Given the description of an element on the screen output the (x, y) to click on. 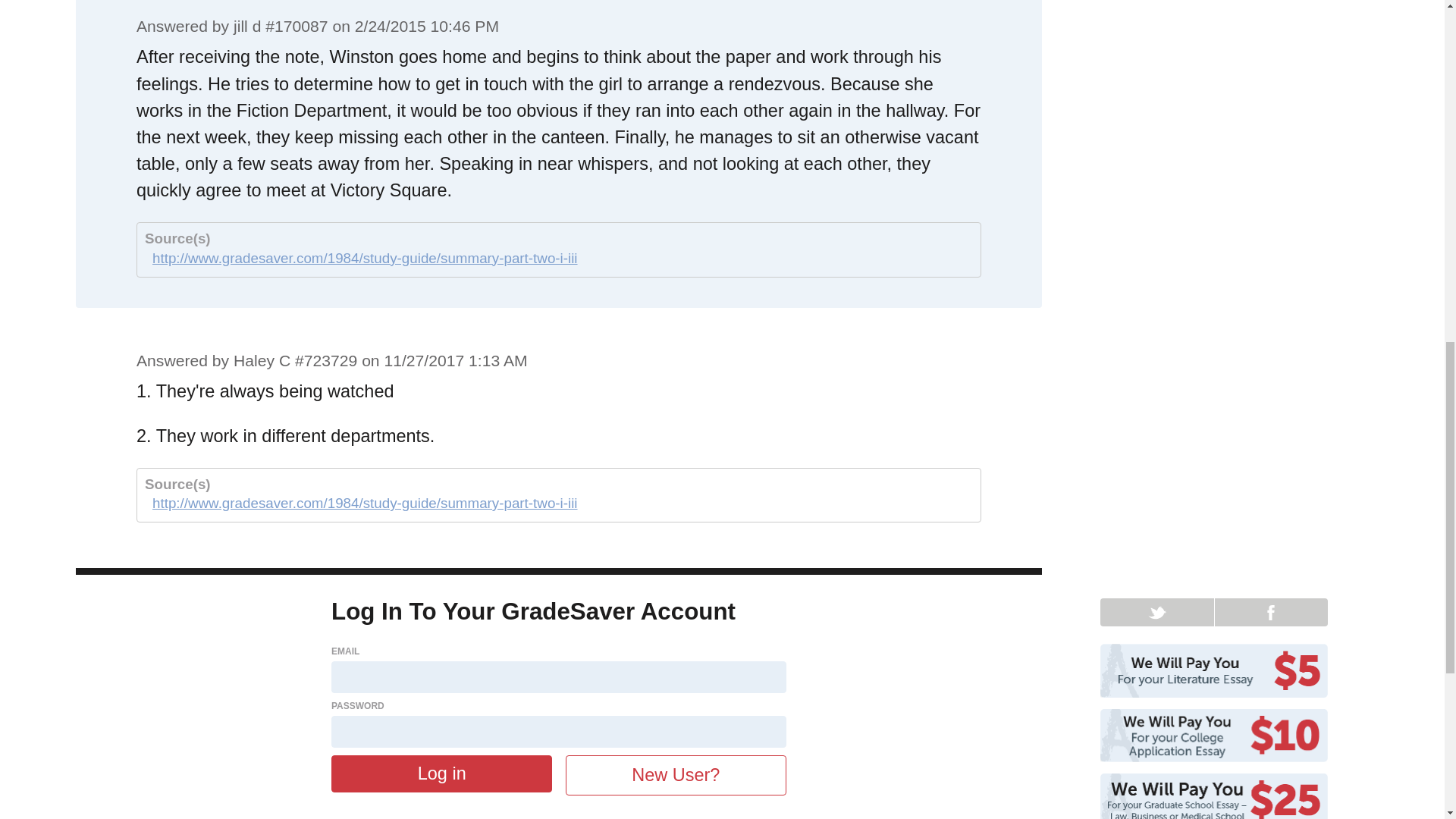
New User? (676, 775)
Log in (441, 773)
Log in (441, 773)
